Given the description of an element on the screen output the (x, y) to click on. 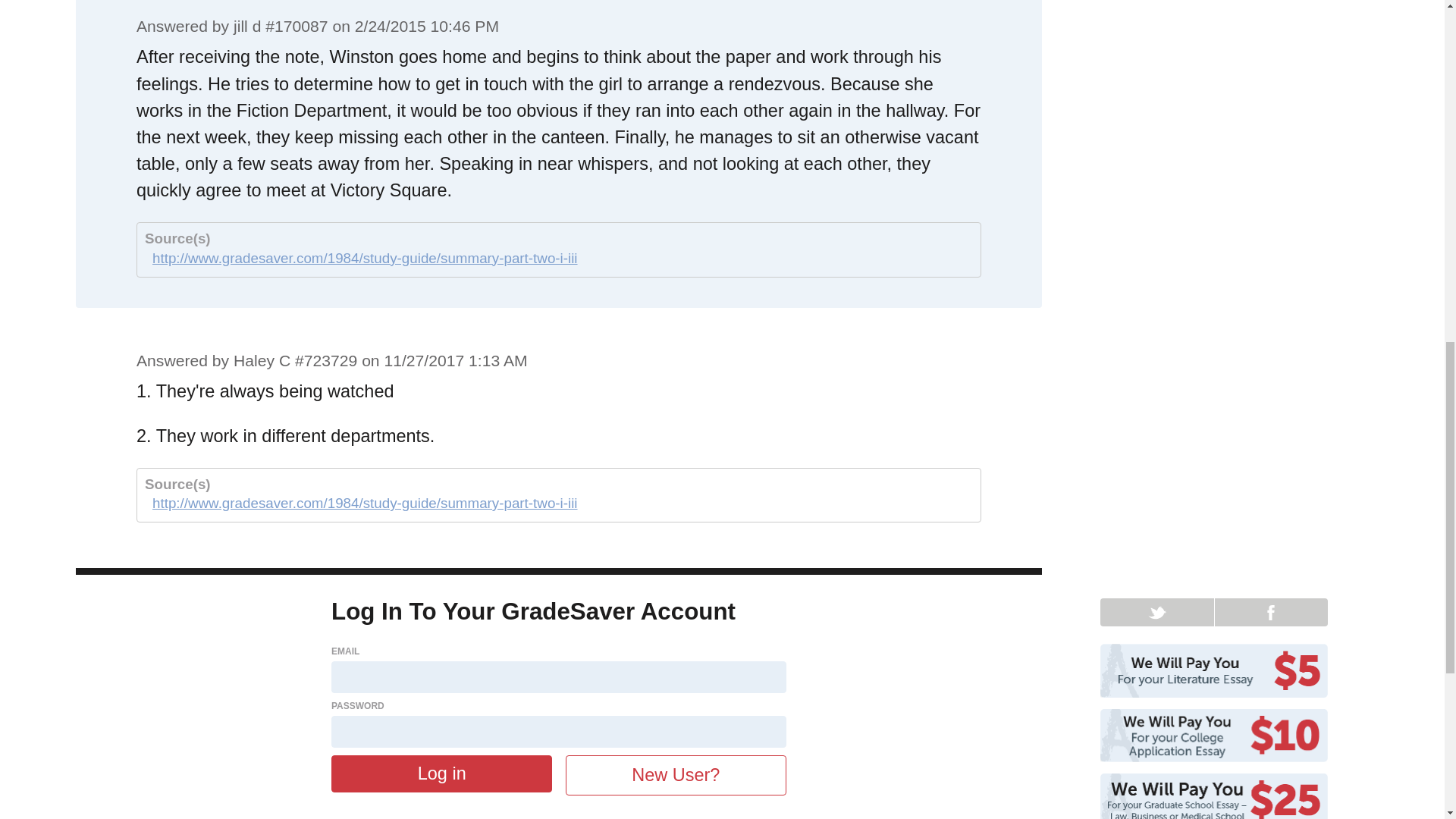
New User? (676, 775)
Log in (441, 773)
Log in (441, 773)
